Given the description of an element on the screen output the (x, y) to click on. 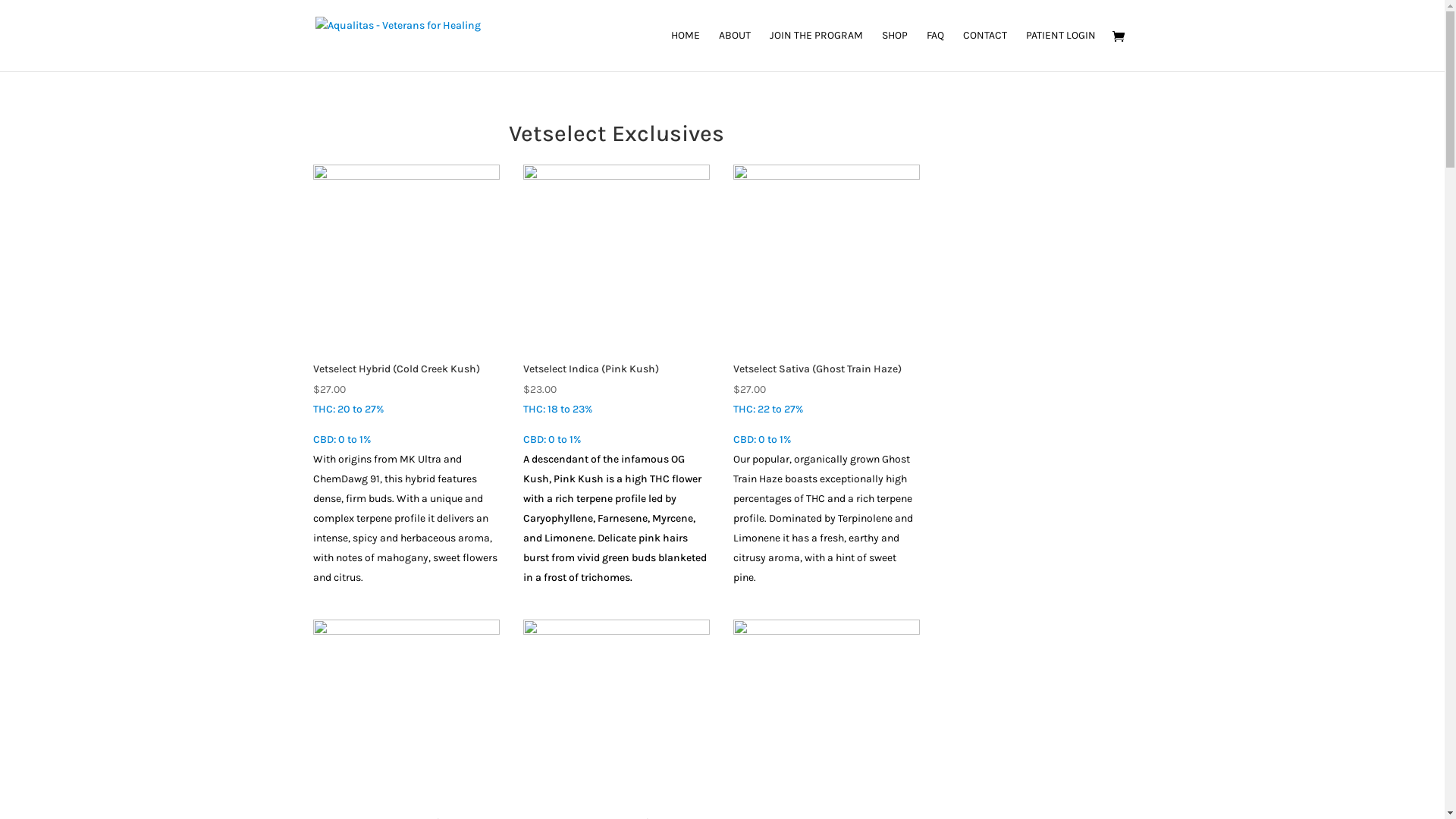
ABOUT Element type: text (734, 50)
JOIN THE PROGRAM Element type: text (815, 50)
FAQ Element type: text (935, 50)
PATIENT LOGIN Element type: text (1060, 50)
HOME Element type: text (684, 50)
SHOP Element type: text (893, 50)
CONTACT Element type: text (985, 50)
